Given the description of an element on the screen output the (x, y) to click on. 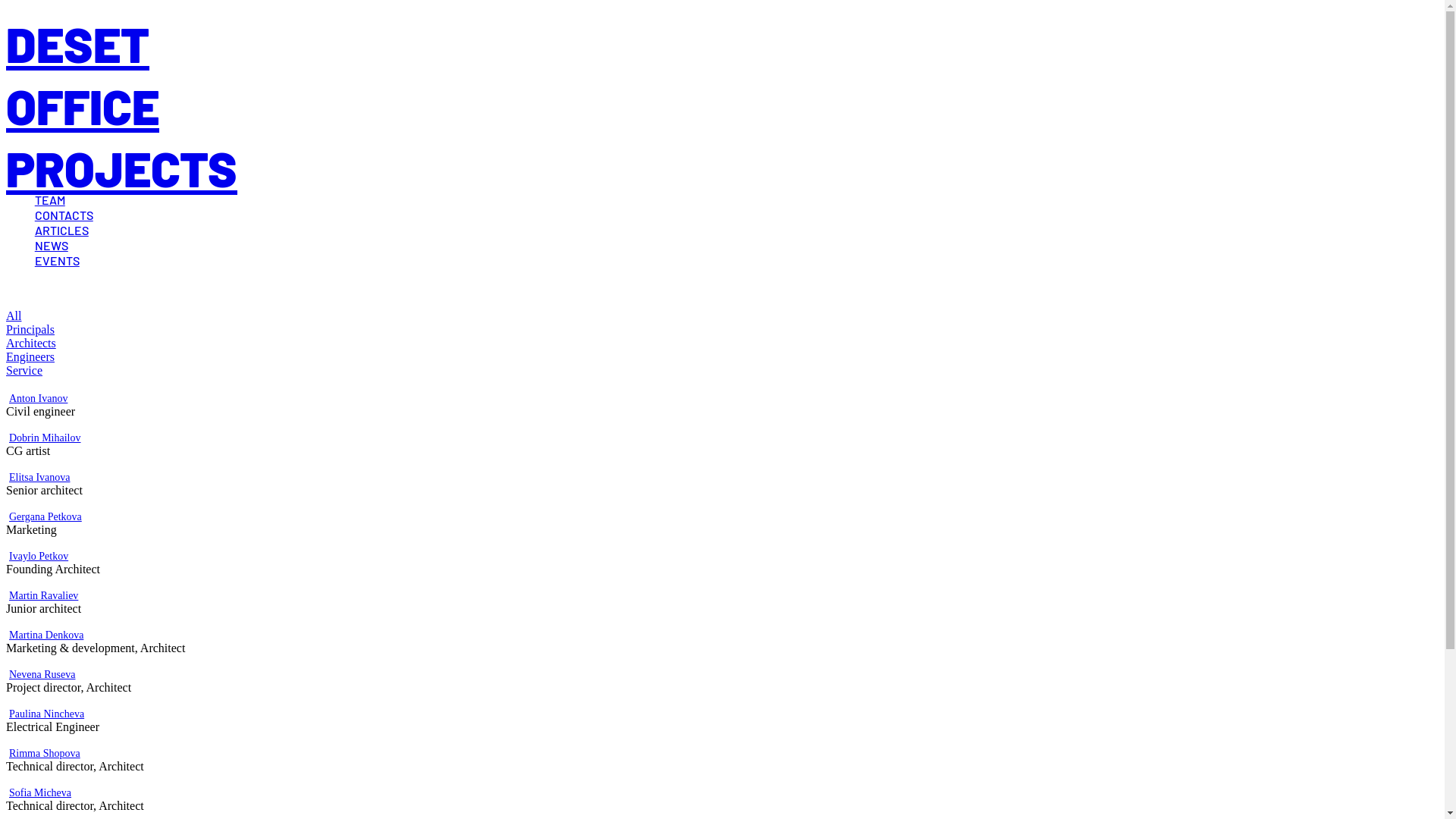
NEWS Element type: text (51, 245)
Architects Element type: text (31, 342)
Dobrin Mihailov Element type: text (45, 437)
Ivaylo Petkov Element type: text (38, 555)
Paulina Nincheva Element type: text (46, 713)
Sofia Micheva Element type: text (40, 792)
Martina Denkova Element type: text (46, 634)
Martin Ravaliev Element type: text (43, 595)
Nevena Ruseva Element type: text (42, 674)
Gergana Petkova Element type: text (45, 516)
CONTACTS Element type: text (63, 214)
PROJECTS Element type: text (121, 167)
All Element type: text (13, 315)
TEAM Element type: text (49, 199)
Service Element type: text (24, 370)
DESET Element type: text (77, 43)
ARTICLES Element type: text (61, 229)
Principals Element type: text (30, 329)
Rimma Shopova Element type: text (44, 753)
Anton Ivanov Element type: text (38, 398)
OFFICE Element type: text (82, 105)
Engineers Element type: text (30, 356)
Elitsa Ivanova Element type: text (39, 477)
EVENTS Element type: text (56, 260)
